Given the description of an element on the screen output the (x, y) to click on. 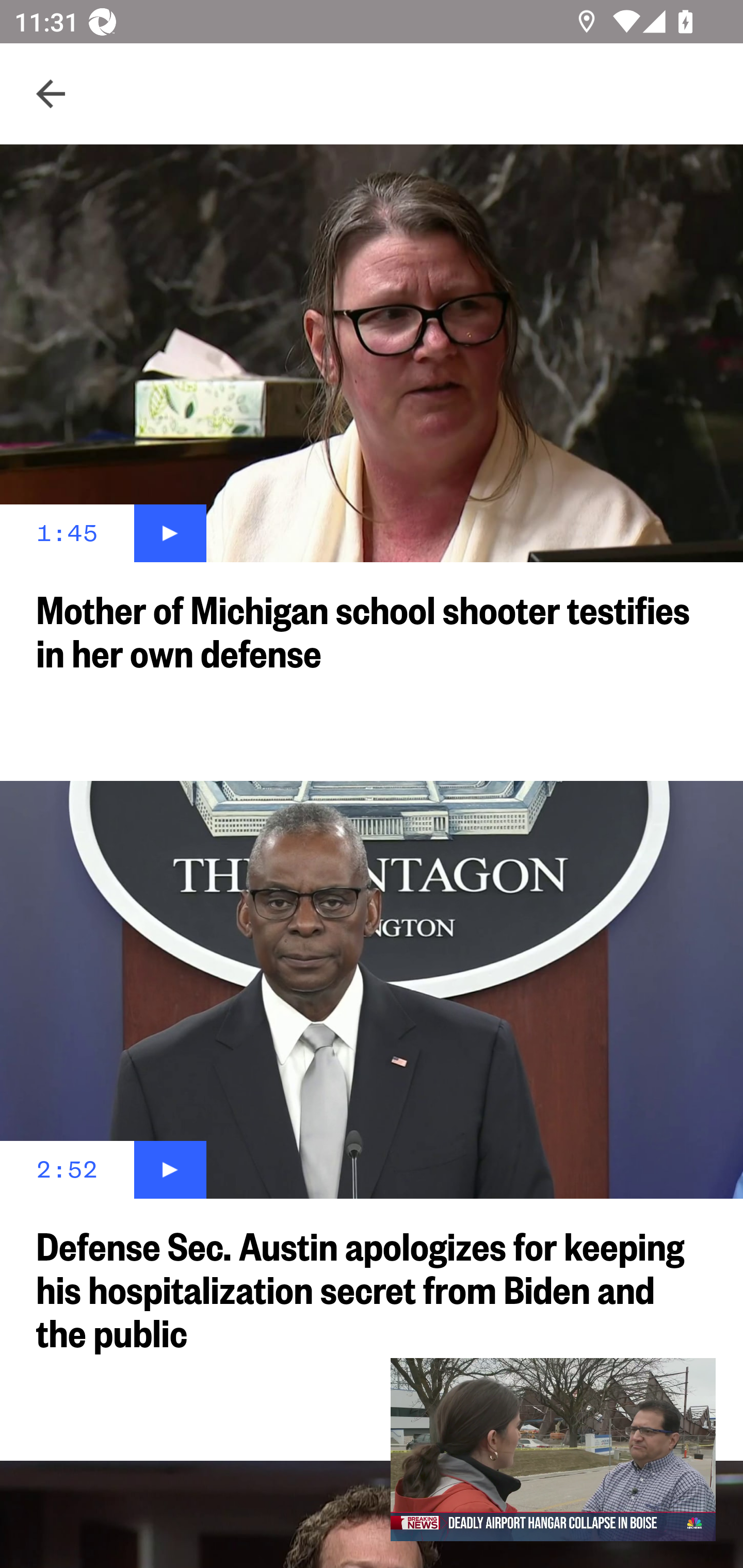
Navigate up (50, 93)
